Given the description of an element on the screen output the (x, y) to click on. 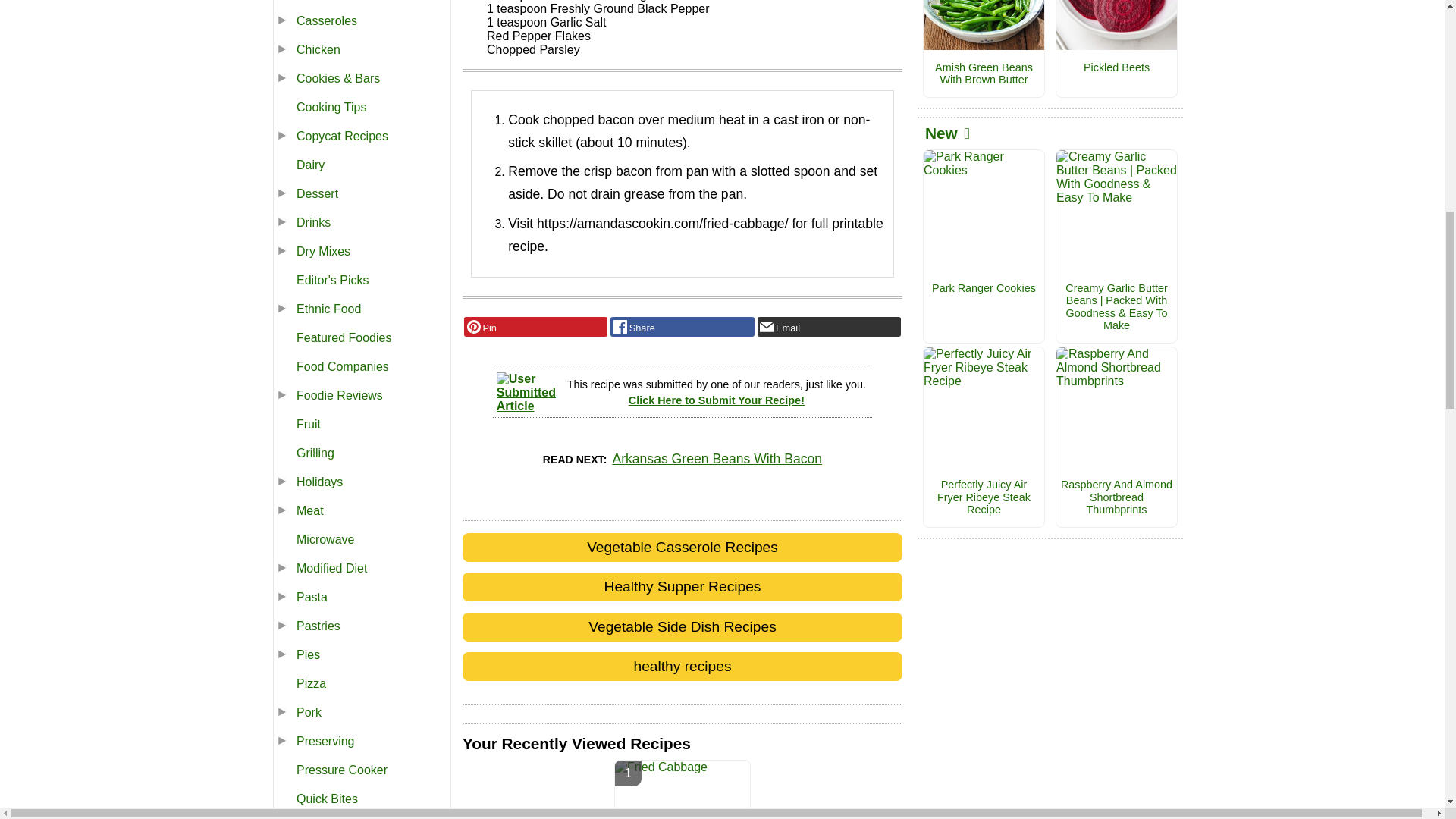
Email (829, 326)
Facebook (682, 326)
